Given the description of an element on the screen output the (x, y) to click on. 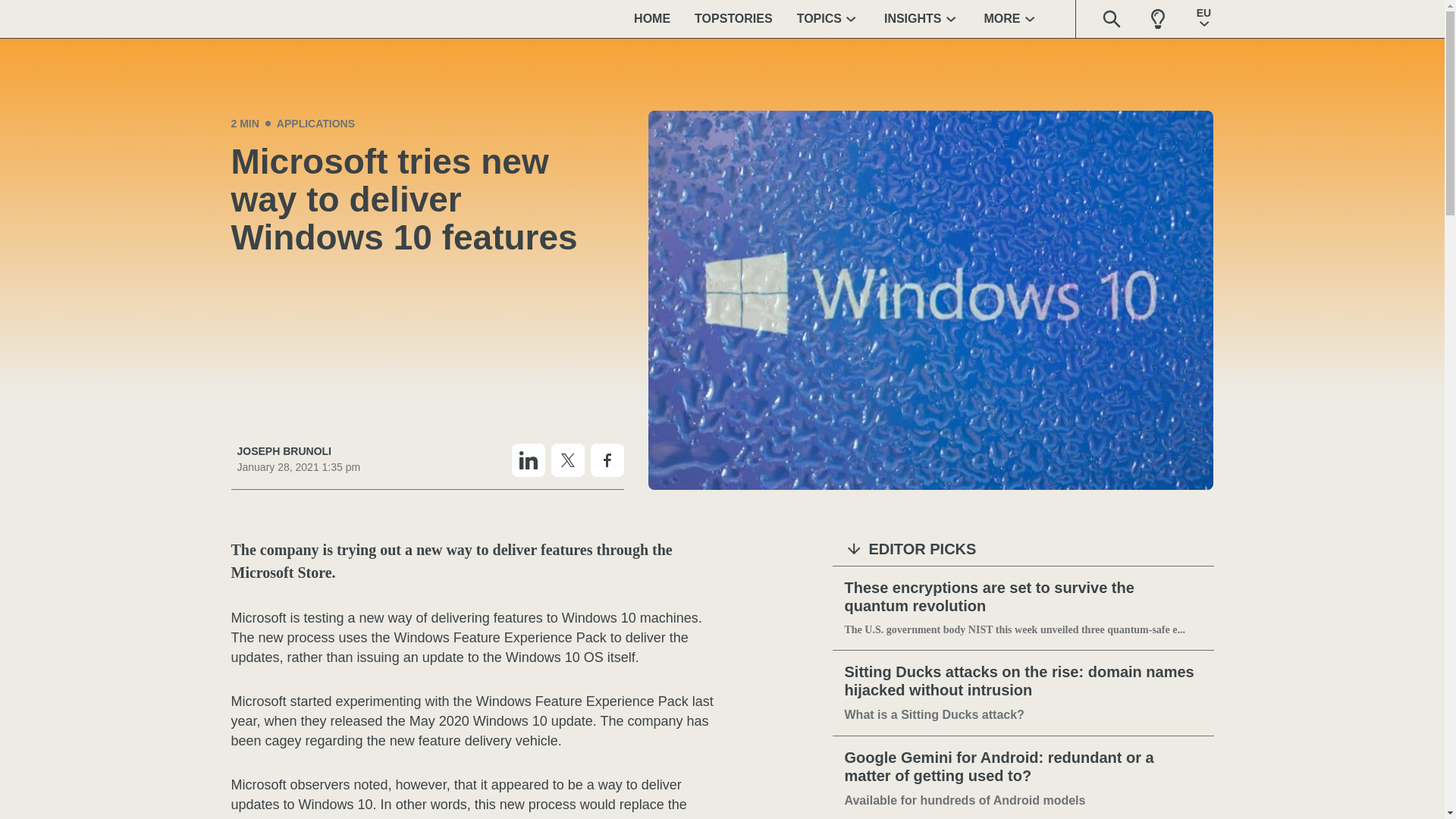
These encryptions are set to survive the quantum revolution (1023, 597)
INSIGHTS (922, 18)
APPLICATIONS (315, 123)
TOPSTORIES (733, 18)
TOPICS (828, 18)
JOSEPH BRUNOLI (297, 451)
January 28, 2021 1:35 pm (297, 467)
MORE (1011, 18)
